Given the description of an element on the screen output the (x, y) to click on. 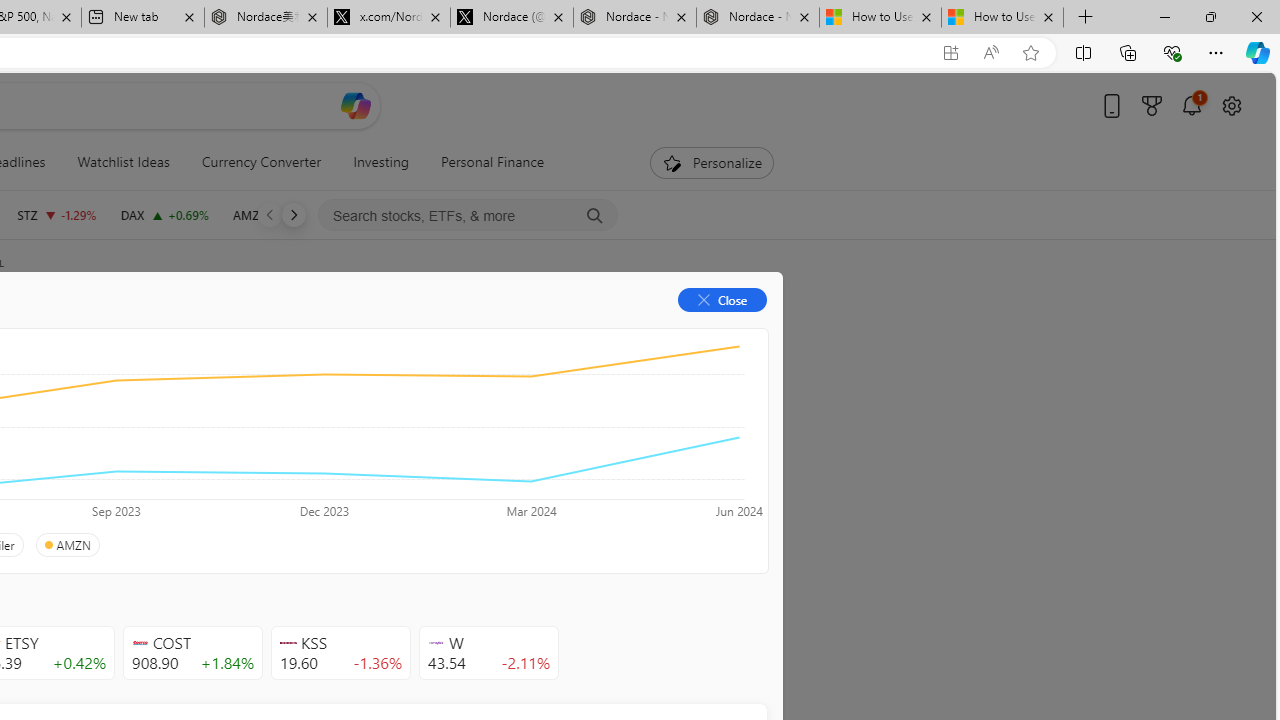
AMZN (66, 545)
Summary (107, 331)
Search stocks, ETFs, & more (468, 215)
Personal Finance (484, 162)
Sentiment (595, 331)
Options (693, 331)
Nordace (@NordaceOfficial) / X (511, 17)
Efficiency (216, 445)
Open settings (1231, 105)
Watchlist Ideas (123, 162)
